Given the description of an element on the screen output the (x, y) to click on. 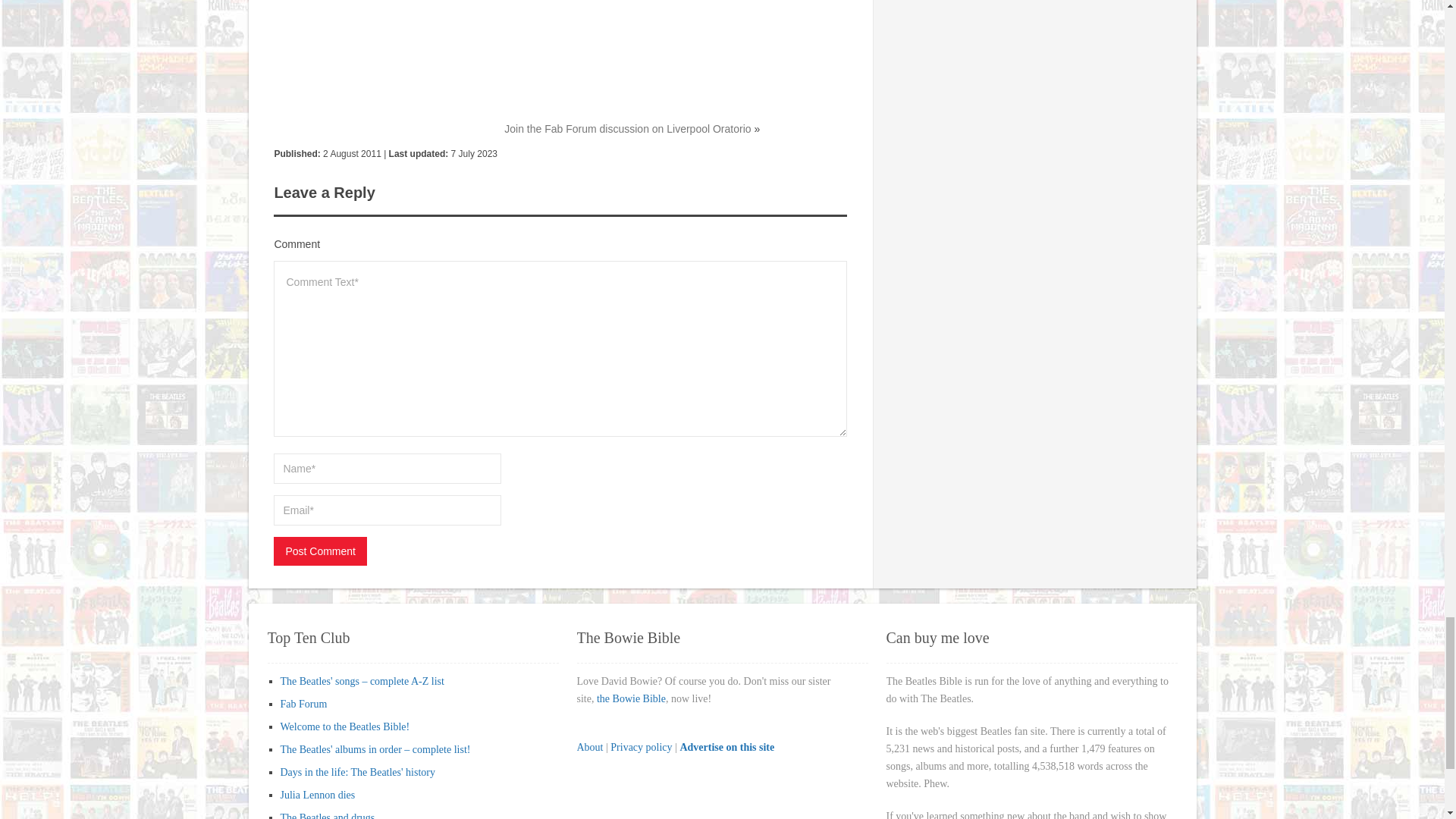
Post Comment (319, 551)
